Given the description of an element on the screen output the (x, y) to click on. 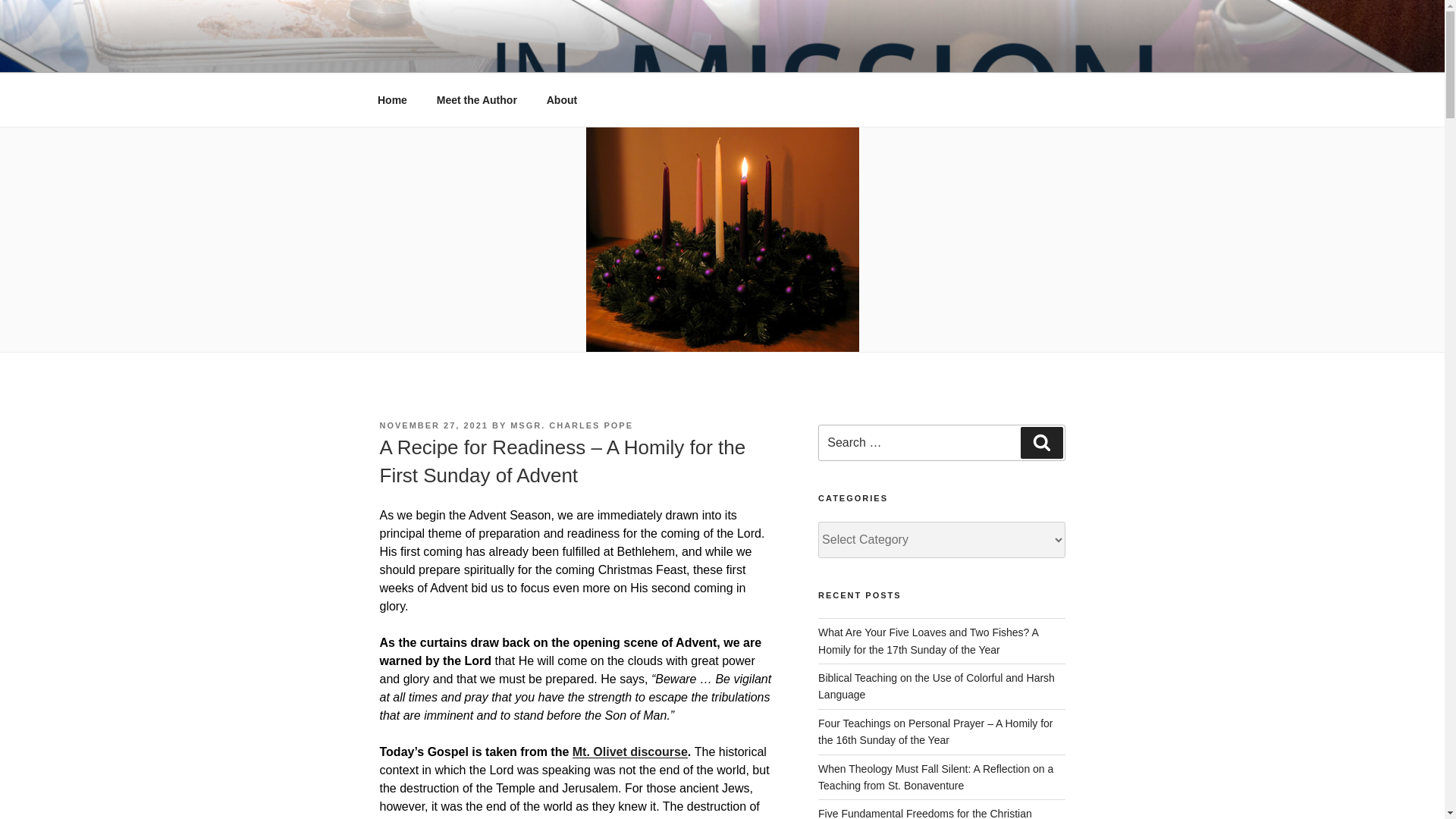
NOVEMBER 27, 2021 (432, 424)
Meet the Author (476, 99)
Home (392, 99)
MSGR. CHARLES POPE (572, 424)
COMMUNITY IN MISSION (563, 52)
Biblical Teaching on the Use of Colorful and Harsh Language (936, 686)
Mt. Olivet discourse (629, 751)
